Given the description of an element on the screen output the (x, y) to click on. 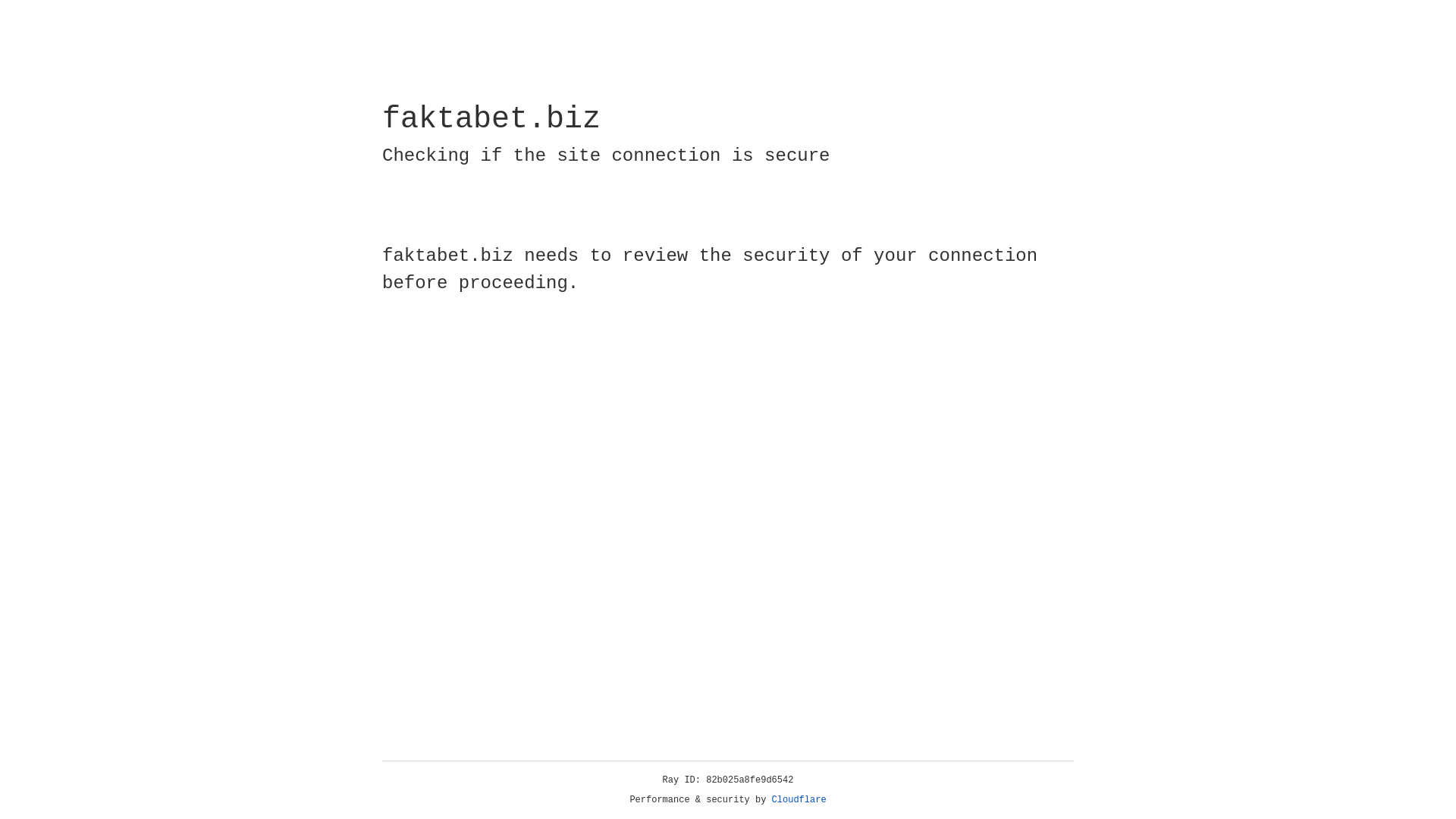
Cloudflare Element type: text (798, 799)
